Given the description of an element on the screen output the (x, y) to click on. 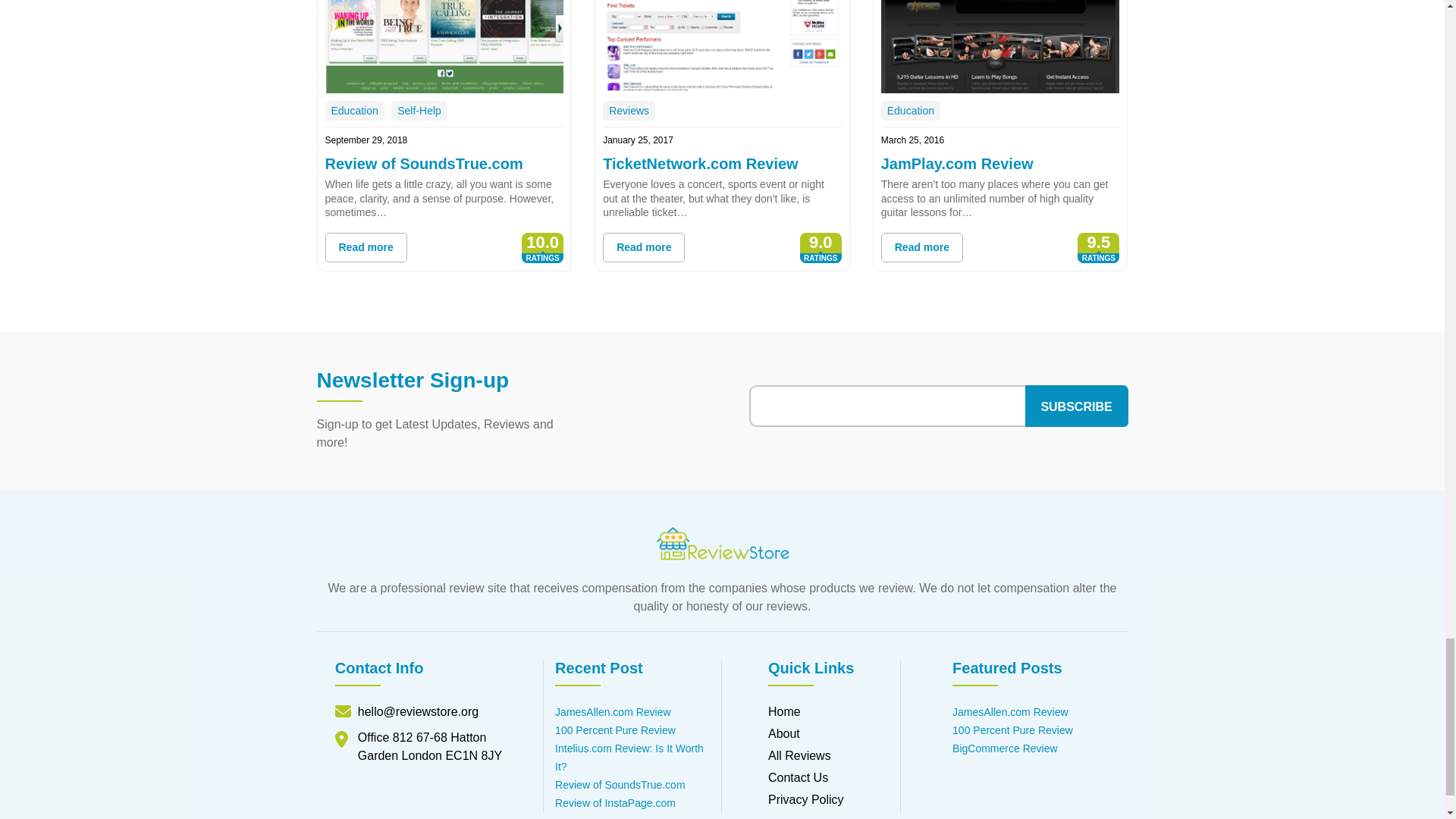
Subscribe (1076, 405)
